Given the description of an element on the screen output the (x, y) to click on. 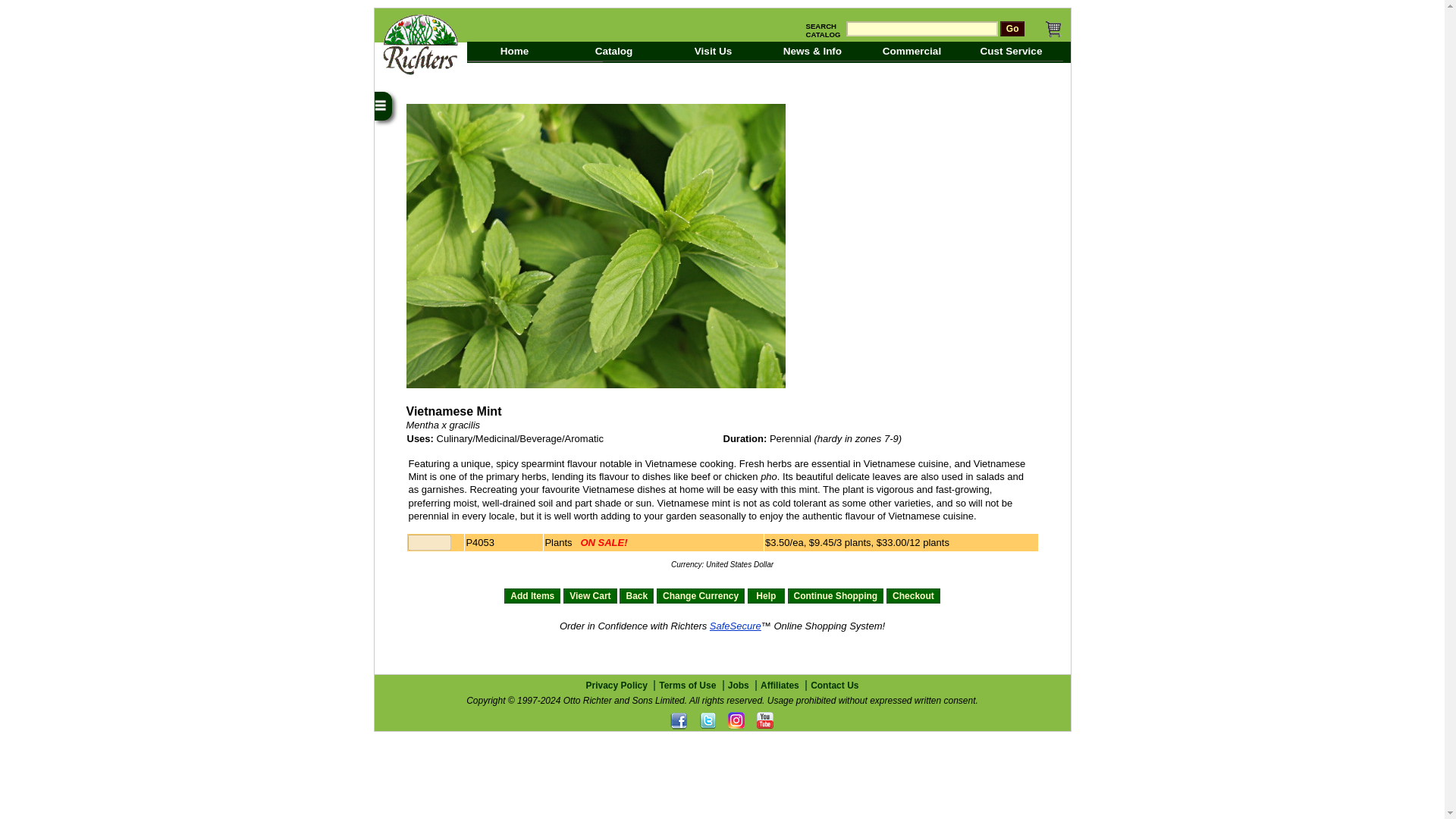
Catalog (615, 51)
Add Items (531, 595)
Change Currency (700, 595)
 Help  (766, 595)
Go (1012, 28)
Continue Shopping (835, 595)
Checkout (913, 595)
Home (516, 51)
Go (1012, 28)
Back (636, 595)
Cust Service (1012, 51)
View Cart (589, 595)
Commercial (913, 51)
Visit Us (715, 51)
